Given the description of an element on the screen output the (x, y) to click on. 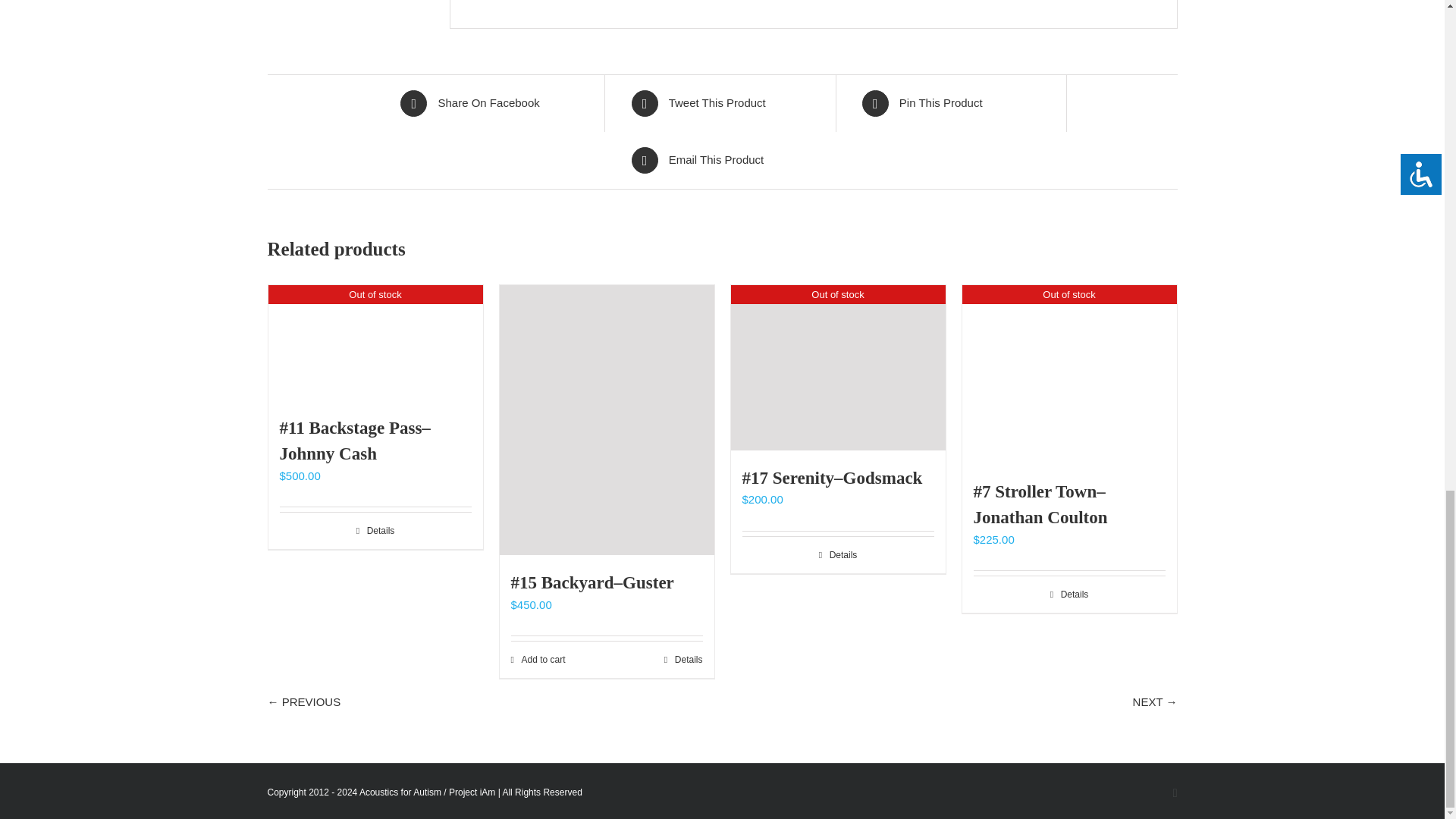
Email This Product (721, 160)
Share On Facebook (490, 103)
Facebook (1175, 793)
Tweet This Product (721, 103)
Out of stock (375, 342)
Pin This Product (952, 103)
